Given the description of an element on the screen output the (x, y) to click on. 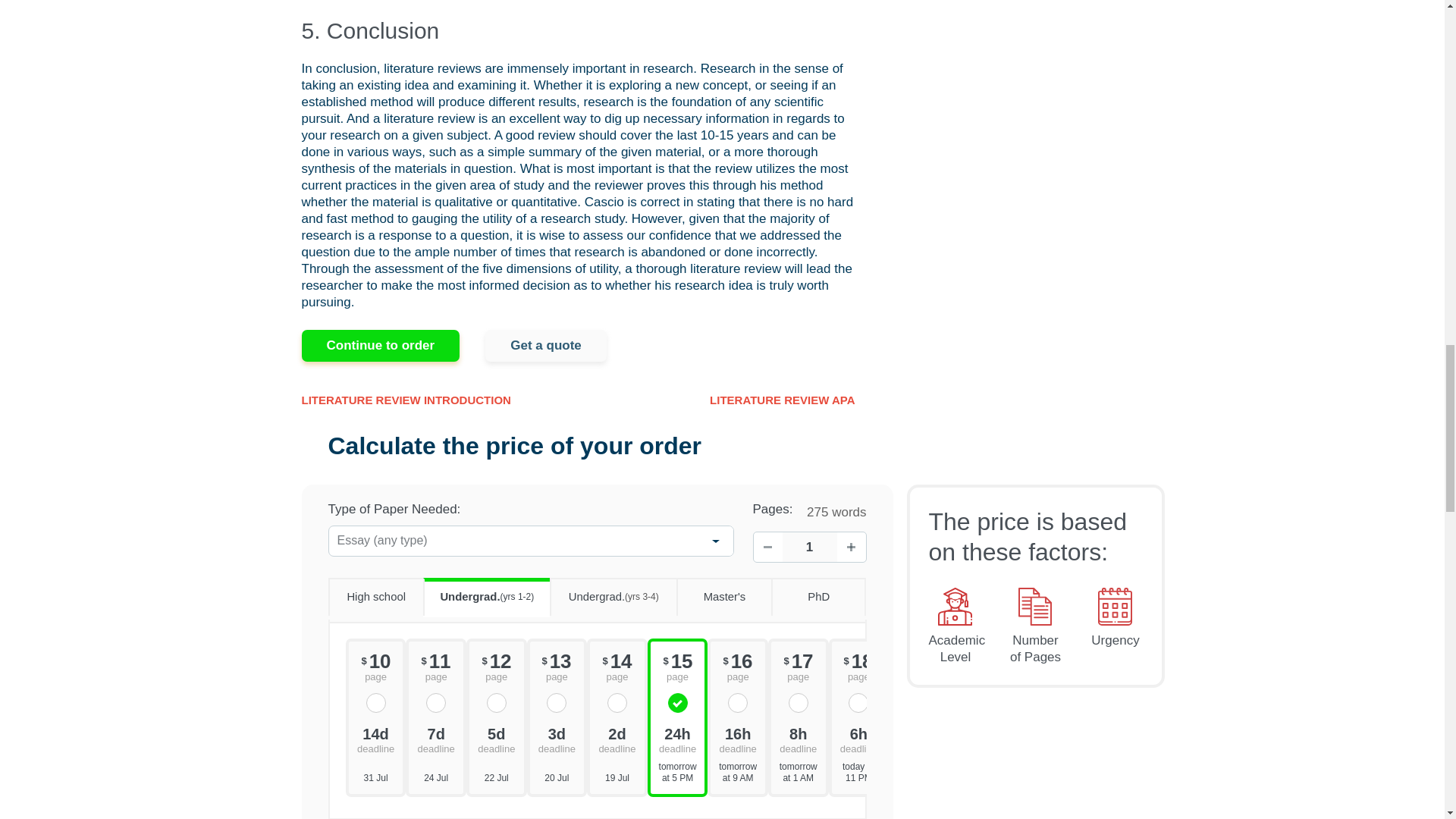
8 hours (798, 738)
5 days (496, 738)
1 (810, 546)
14 days (375, 738)
3 days (557, 738)
7 days (436, 738)
2 days (617, 738)
Decrease (768, 547)
16 hours (737, 738)
24 hours (677, 738)
Increase (851, 547)
6 hours (858, 738)
